Given the description of an element on the screen output the (x, y) to click on. 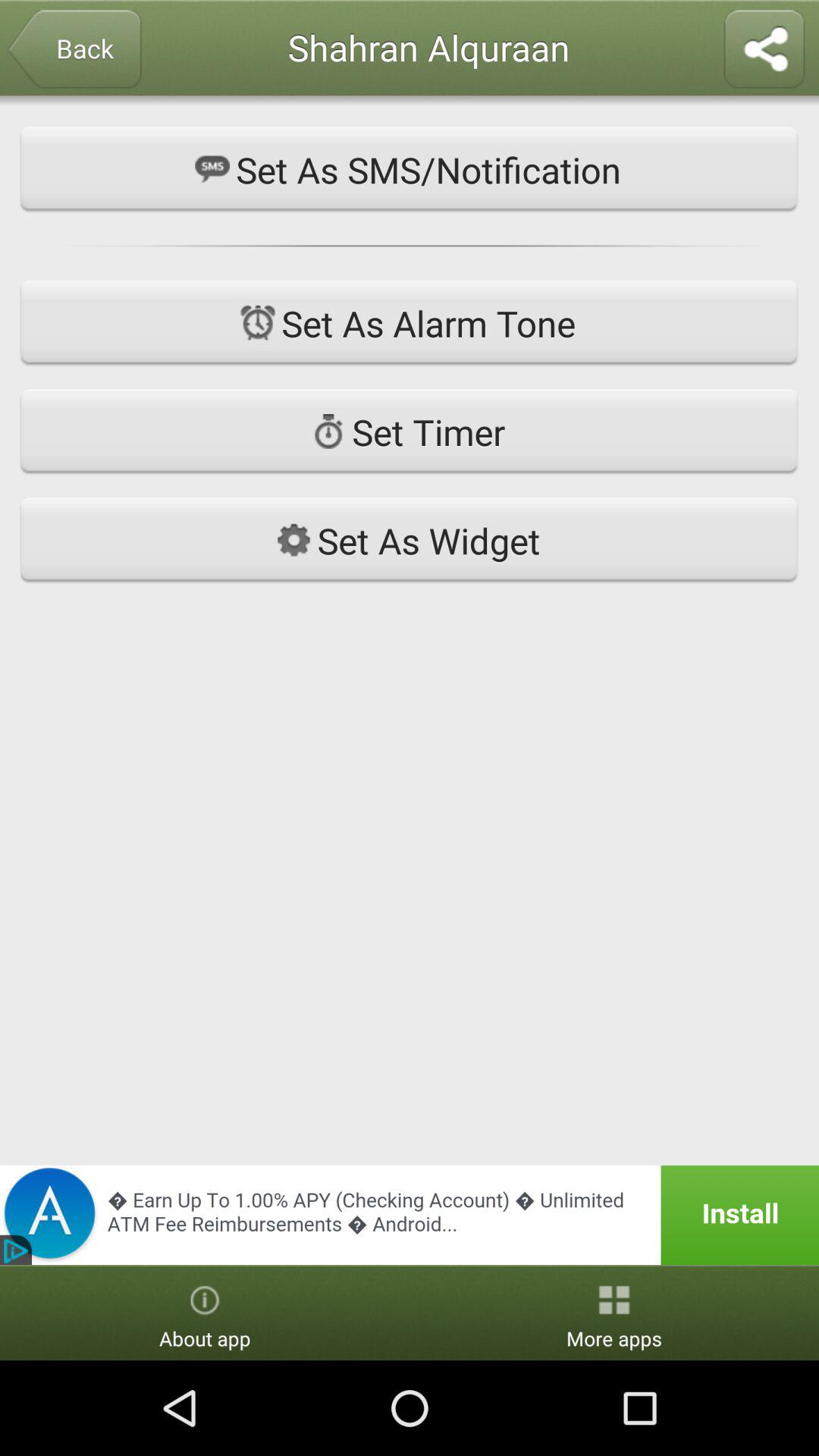
open advertisement (409, 1214)
